Given the description of an element on the screen output the (x, y) to click on. 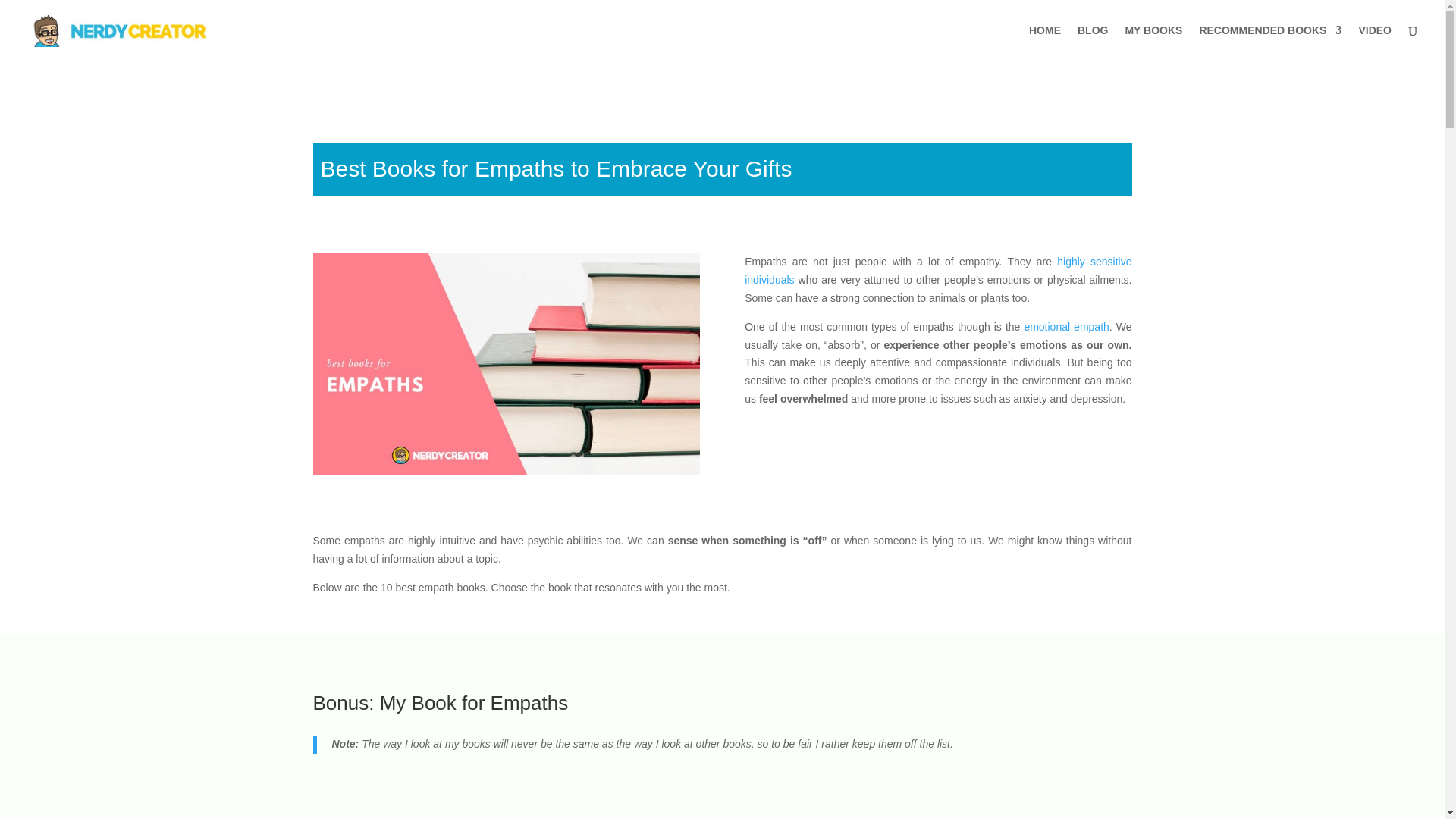
emotional empath (1065, 326)
VIDEO (1374, 42)
highly sensitive individuals (937, 270)
HOME (1045, 42)
MY BOOKS (1153, 42)
Psychology-best-empaths-books (505, 364)
RECOMMENDED BOOKS (1269, 42)
